Given the description of an element on the screen output the (x, y) to click on. 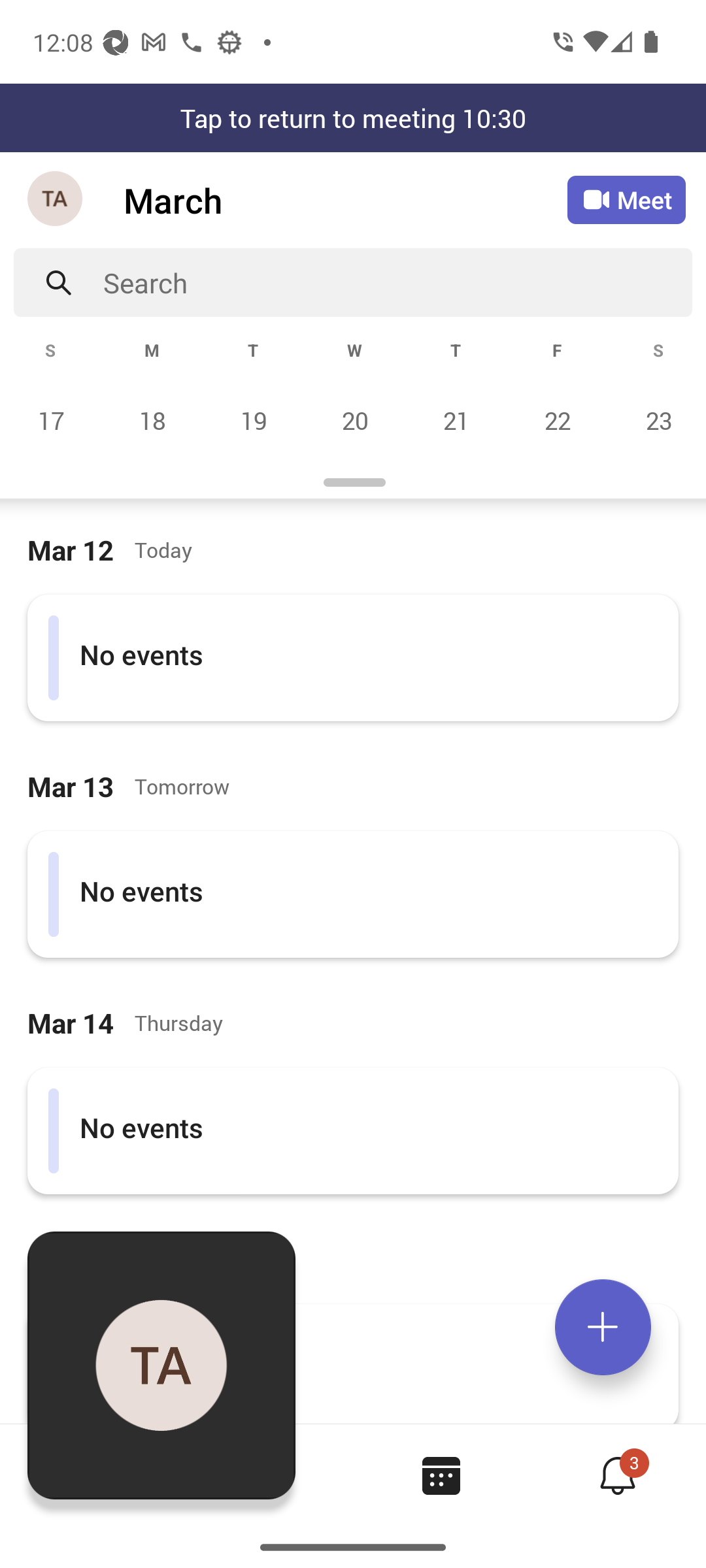
Tap to return to meeting 10:30 (353, 117)
Navigation (56, 199)
Meet Meet now or join with an ID (626, 199)
March March Calendar Agenda View (345, 199)
Search (397, 281)
Sunday, March 17 17 (50, 420)
Monday, March 18 18 (151, 420)
Tuesday, March 19 19 (253, 420)
Wednesday, March 20 20 (354, 420)
Thursday, March 21 21 (455, 420)
Friday, March 22 22 (556, 420)
Saturday, March 23 23 (656, 420)
Expand meetings menu (602, 1327)
Calendar tab, 3 of 4 (441, 1475)
Activity tab,4 of 4, not selected, 3 new 3 (617, 1475)
